Given the description of an element on the screen output the (x, y) to click on. 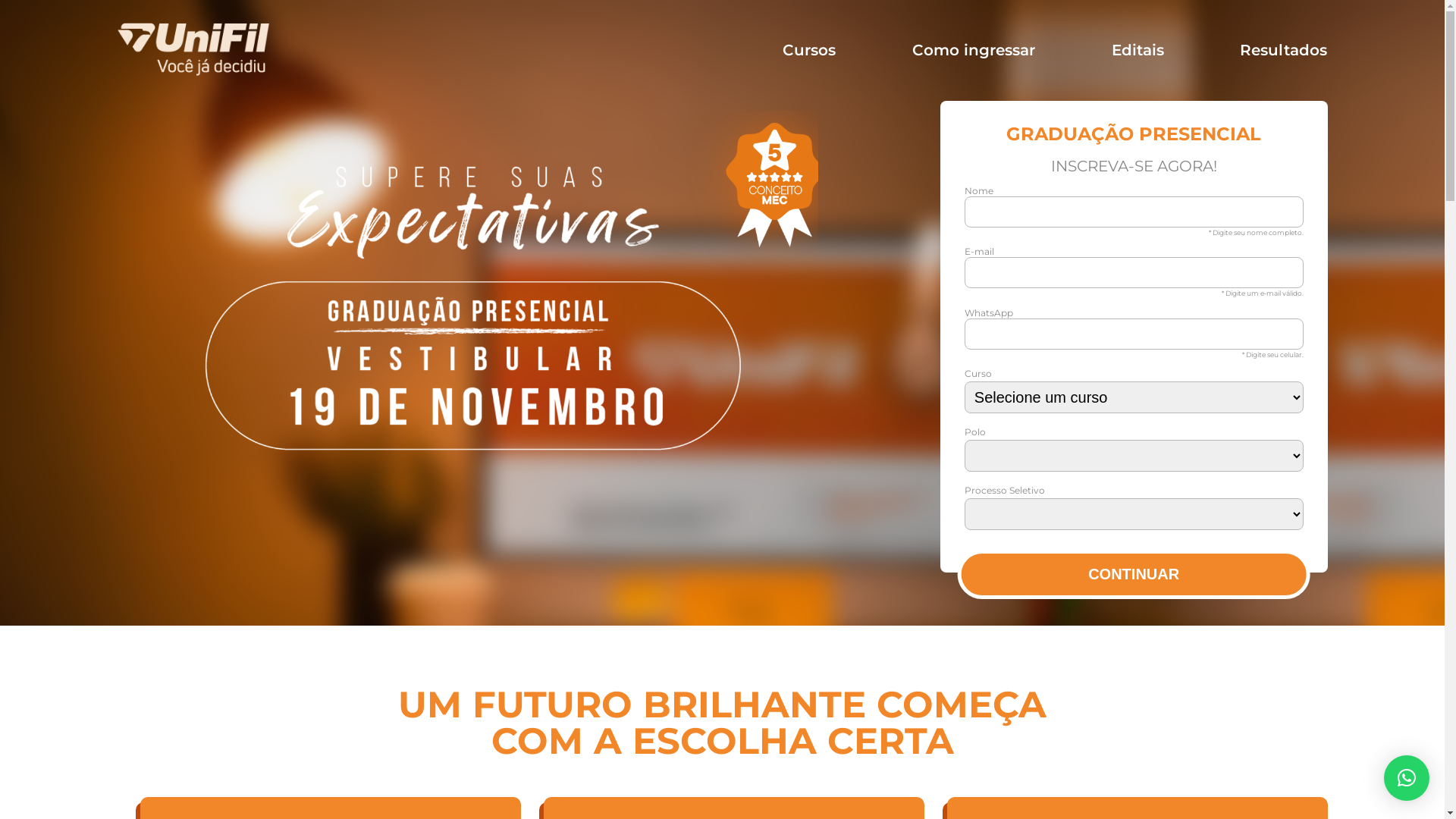
Cursos Element type: text (808, 49)
Insira o nome completo Element type: hover (1133, 211)
Editais Element type: text (1137, 49)
Como ingressar Element type: text (973, 49)
Resultados Element type: text (1283, 49)
Continuar Element type: text (1133, 574)
